Given the description of an element on the screen output the (x, y) to click on. 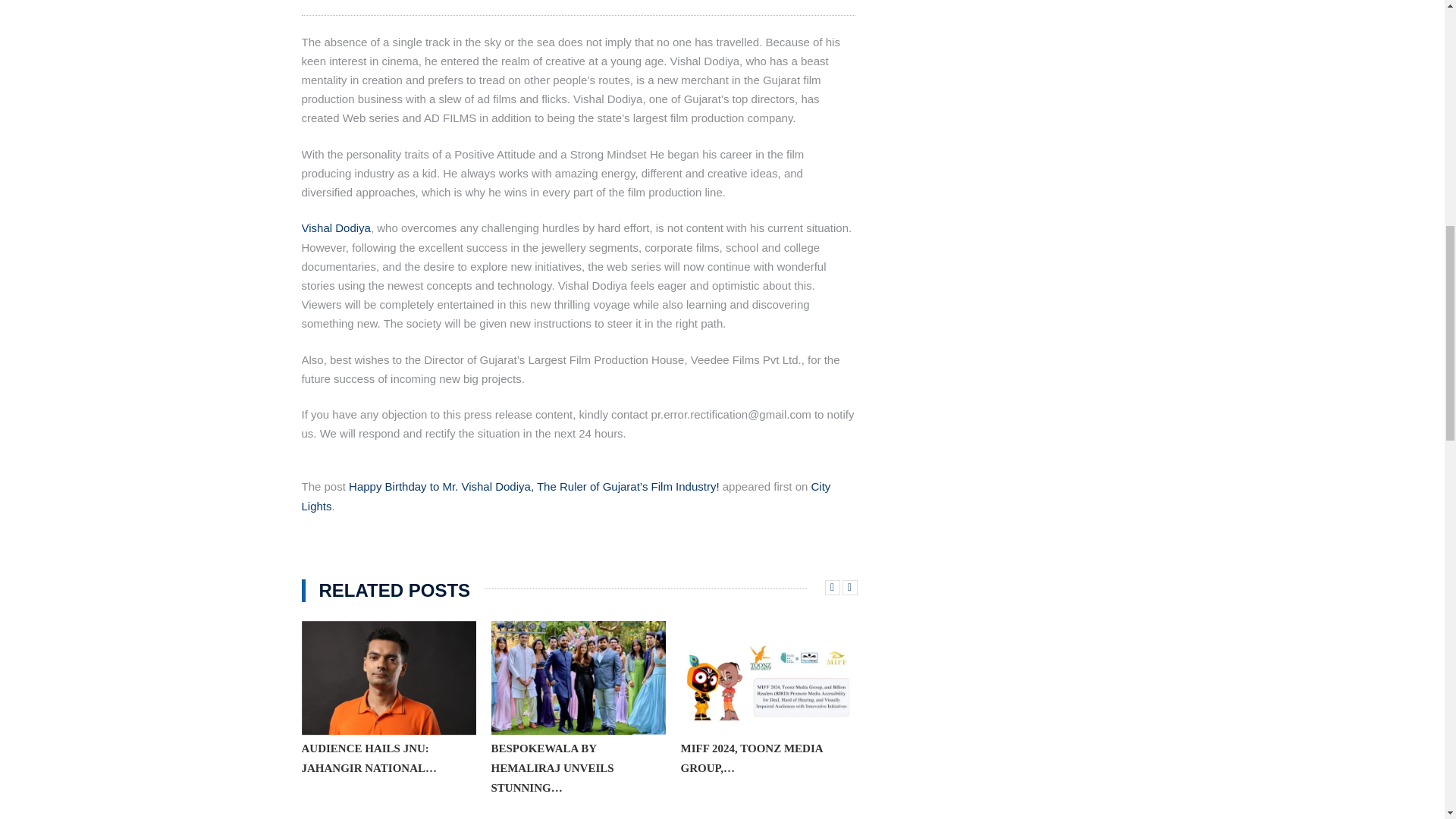
Vishal Dodiya (336, 227)
City Lights (566, 495)
